Given the description of an element on the screen output the (x, y) to click on. 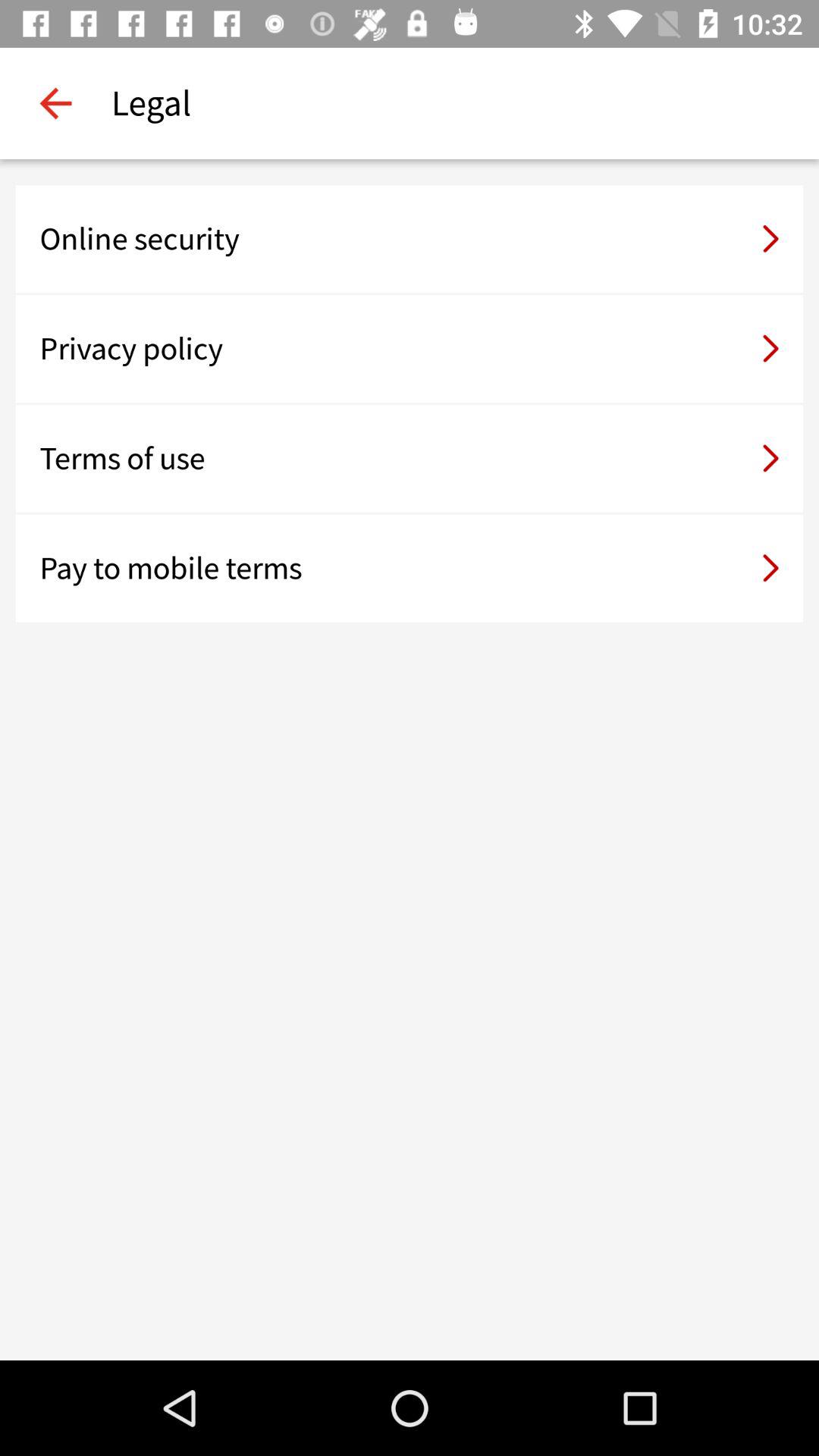
scroll until the privacy policy item (409, 348)
